Given the description of an element on the screen output the (x, y) to click on. 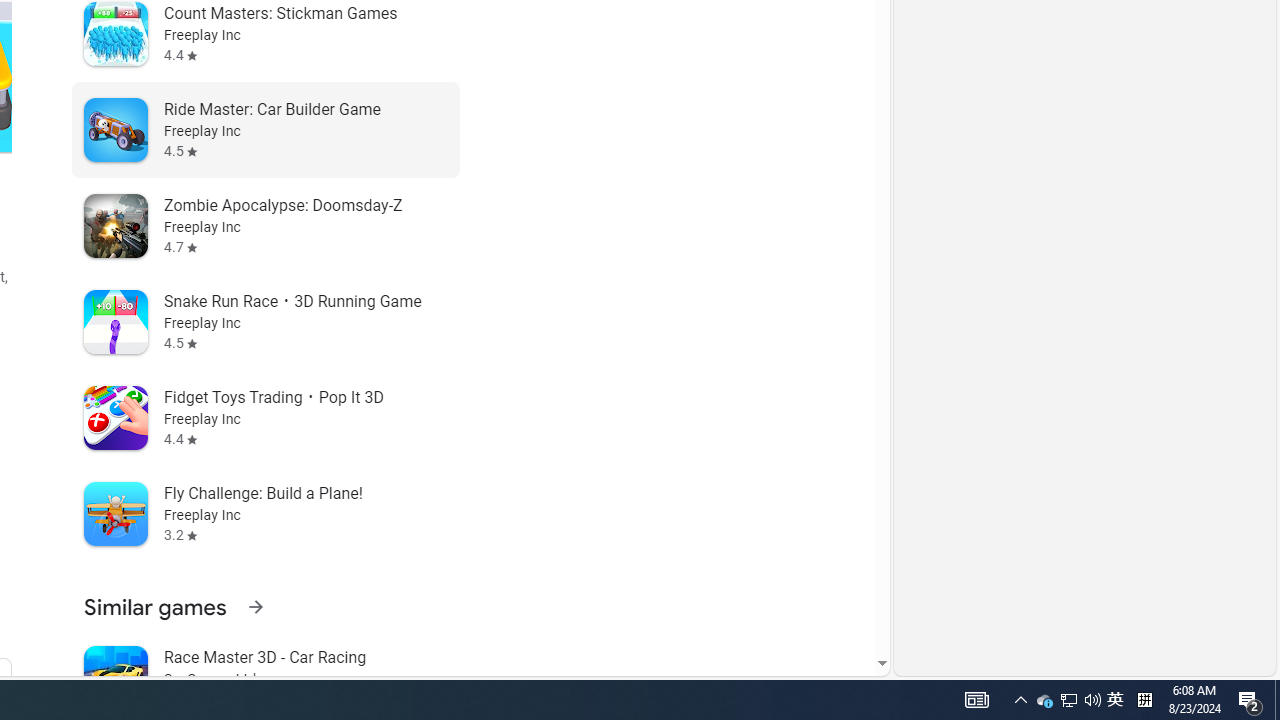
See more information on Similar games (255, 606)
